Given the description of an element on the screen output the (x, y) to click on. 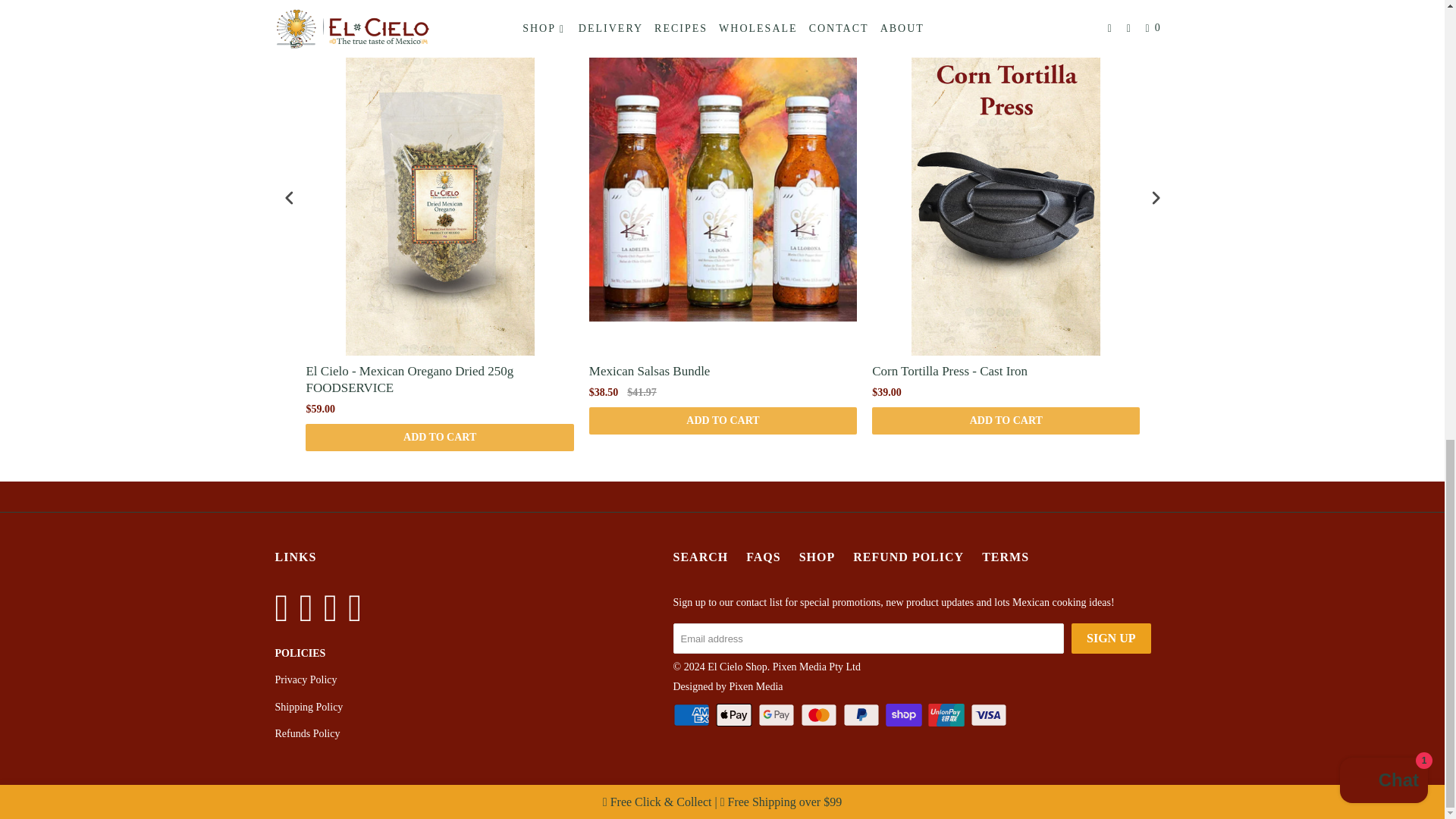
Union Pay (948, 714)
Shop Pay (904, 714)
Google Pay (777, 714)
PayPal (862, 714)
Mastercard (820, 714)
American Express (692, 714)
Visa (990, 714)
Sign Up (1110, 638)
Apple Pay (735, 714)
